Given the description of an element on the screen output the (x, y) to click on. 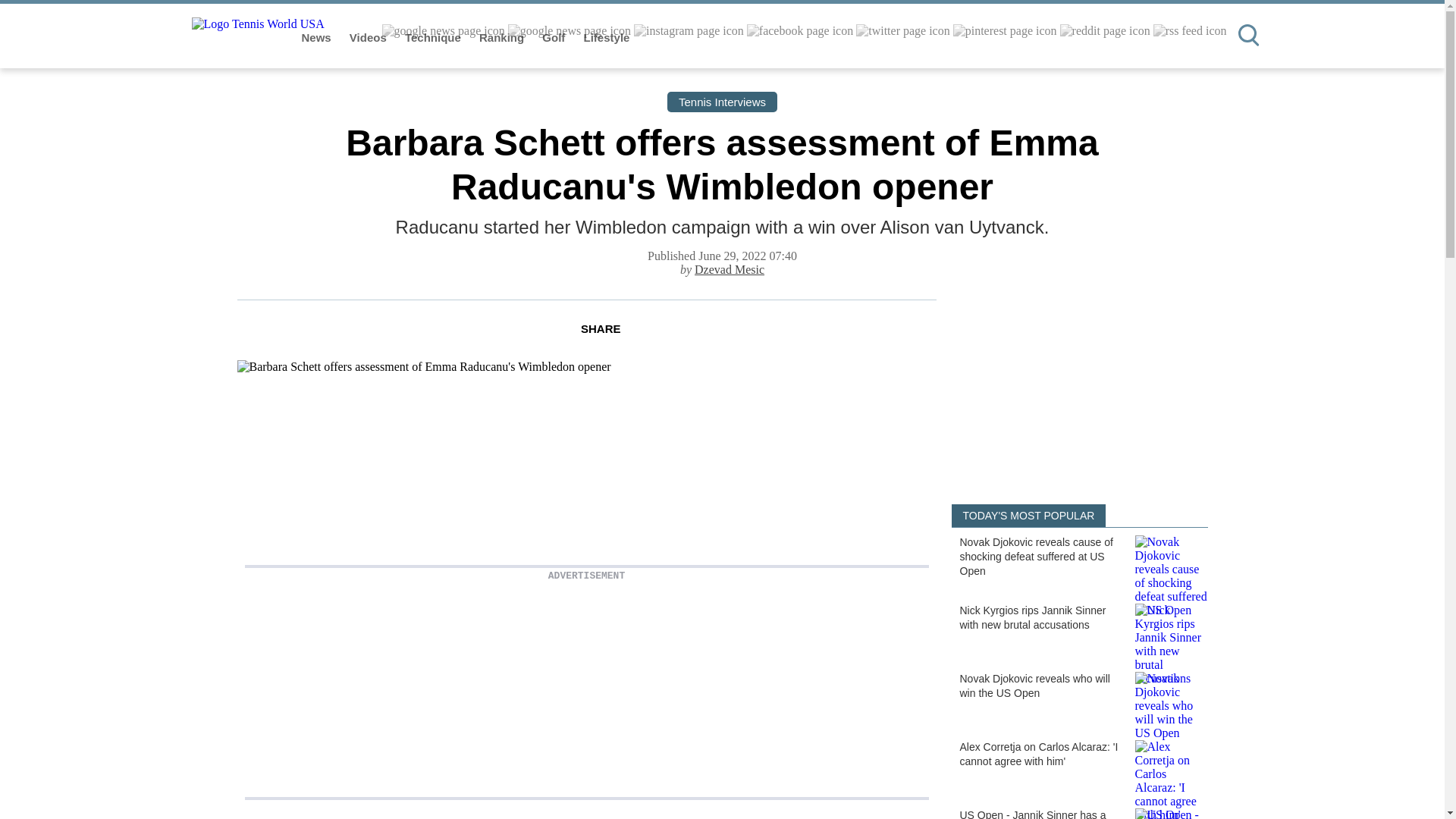
News (317, 37)
Golf (554, 37)
Technique (434, 37)
Lifestyle (606, 37)
Ranking (503, 37)
Videos (369, 37)
